Given the description of an element on the screen output the (x, y) to click on. 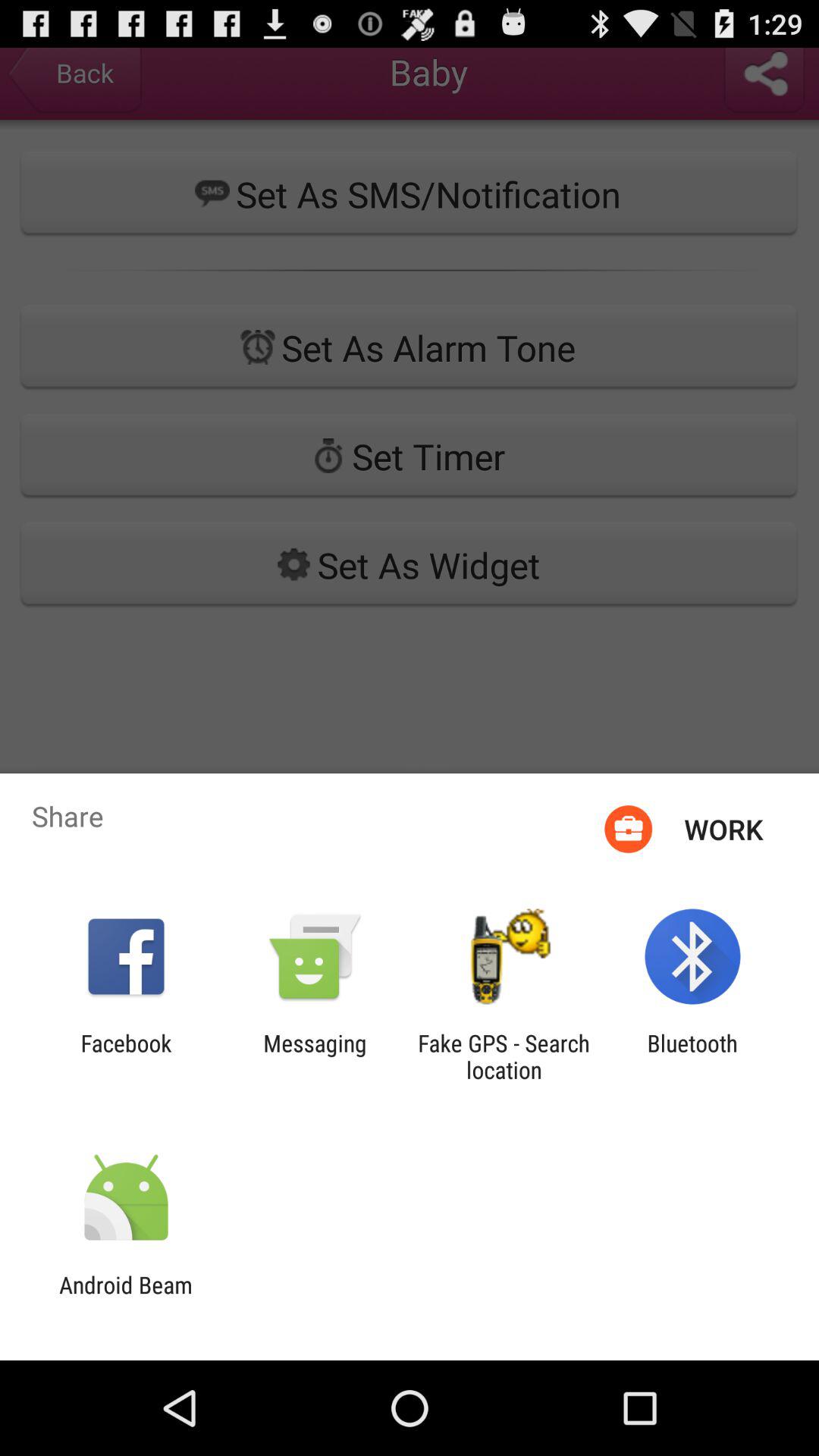
click messaging item (314, 1056)
